Given the description of an element on the screen output the (x, y) to click on. 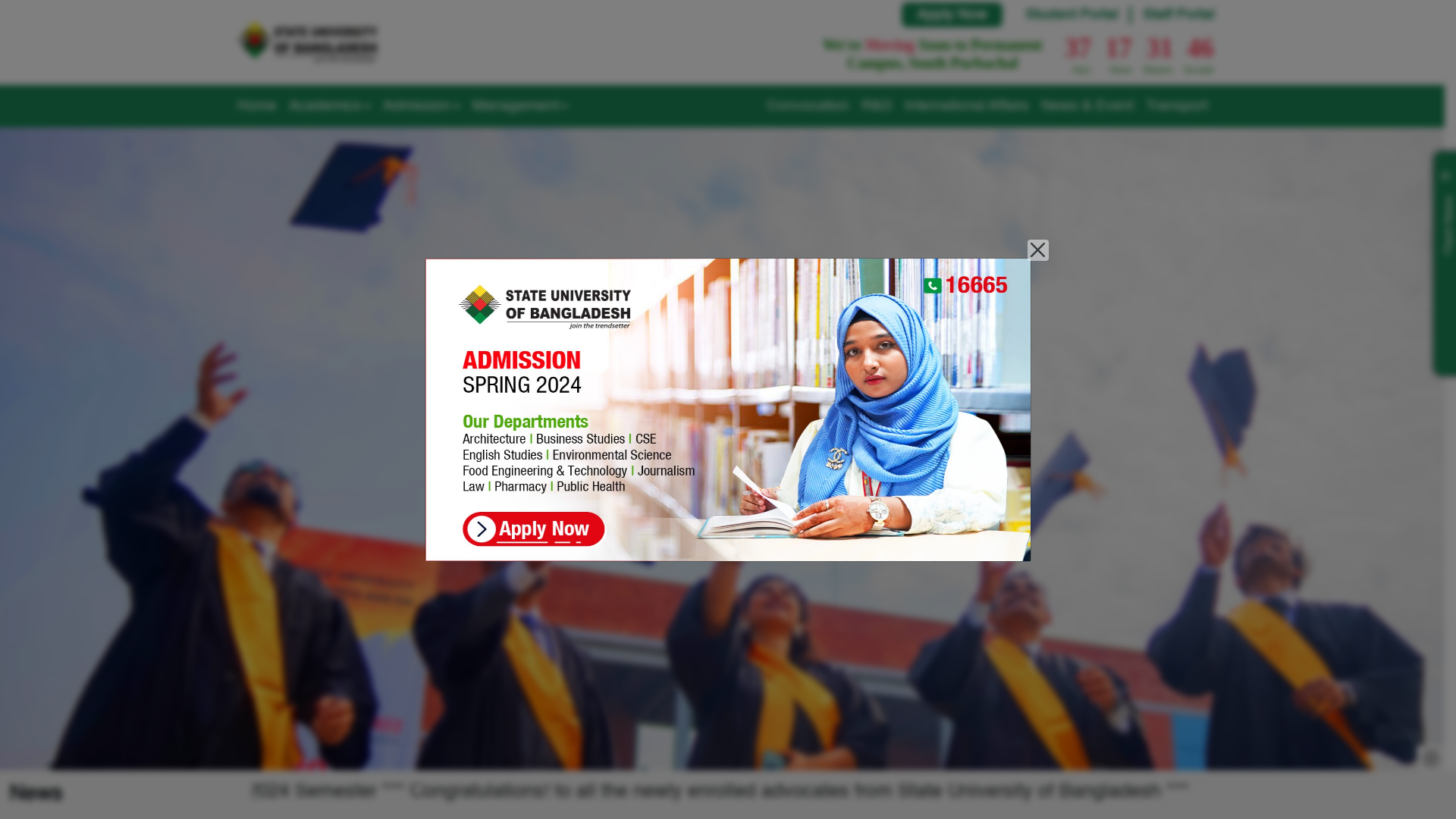
Transport Element type: text (1176, 106)
News & Event Element type: text (1086, 106)
Apply Now Element type: text (950, 14)
Admission Element type: text (420, 106)
Convocation Element type: text (806, 106)
R&D Element type: text (876, 106)
Staff Portal Element type: text (1177, 14)
Management Element type: text (519, 106)
International Affairs Element type: text (965, 106)
Academics Element type: text (329, 106)
Student Portal Element type: text (1071, 14)
Home Element type: text (256, 106)
